Given the description of an element on the screen output the (x, y) to click on. 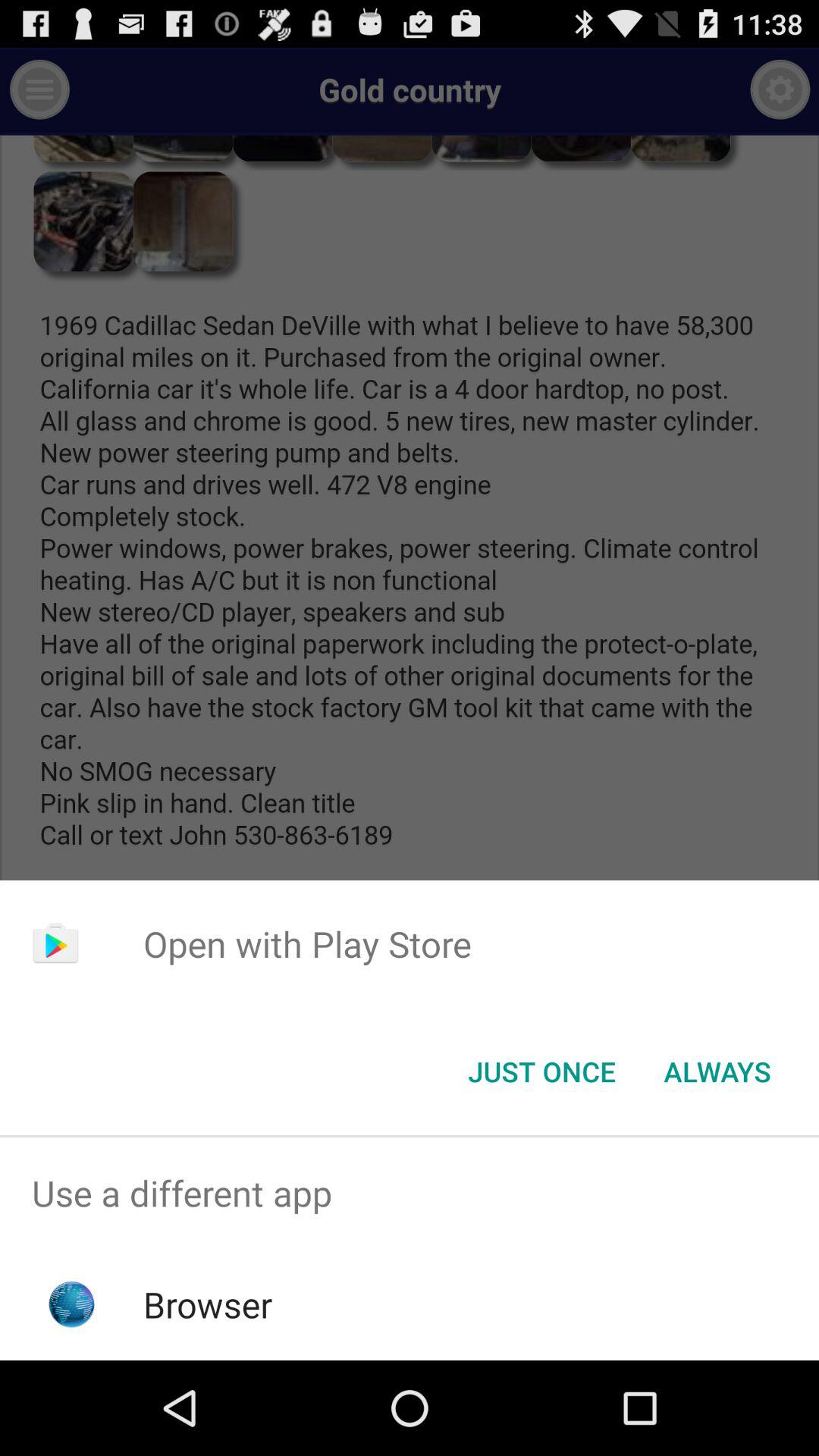
open the always (717, 1071)
